Given the description of an element on the screen output the (x, y) to click on. 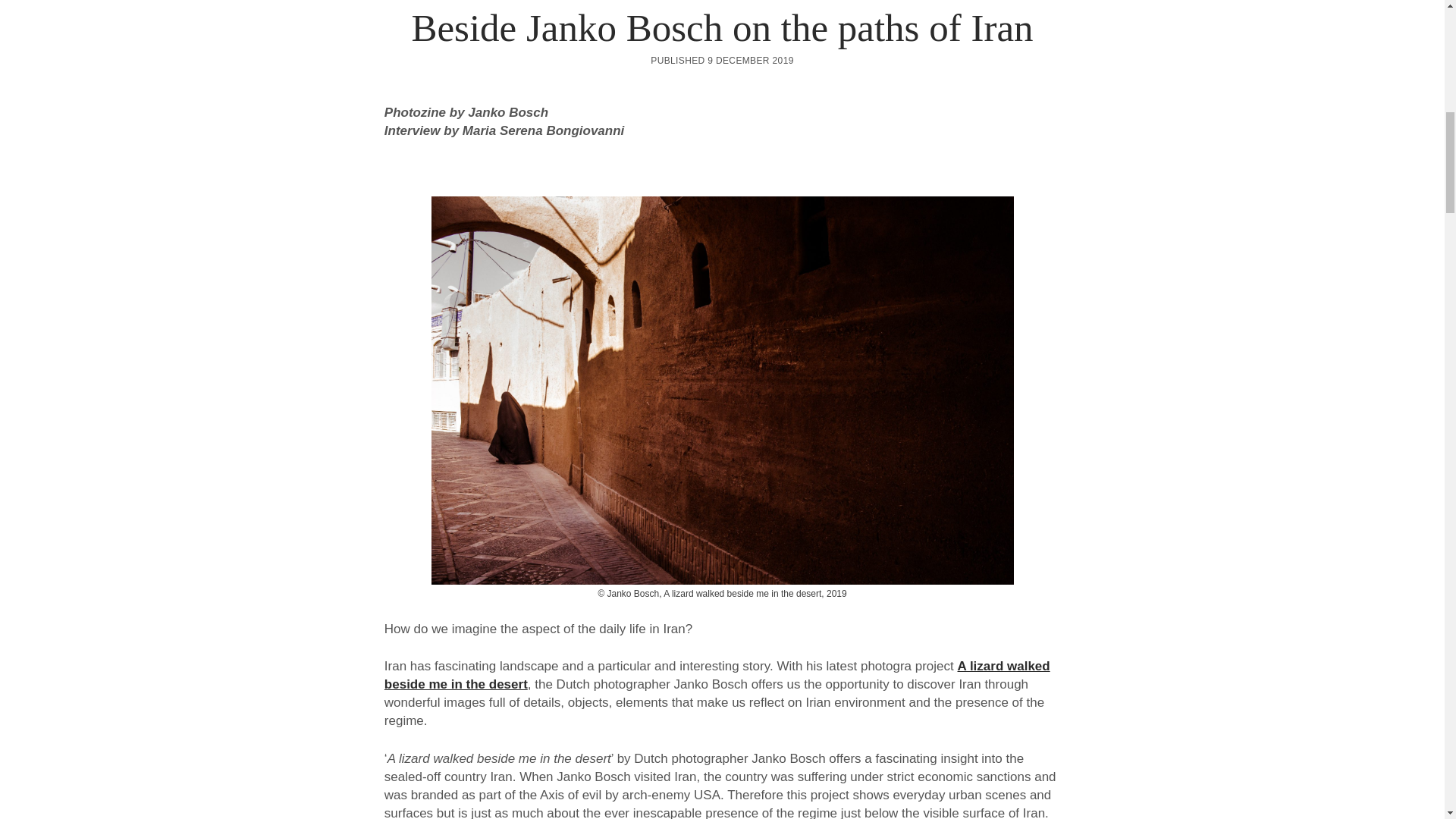
A lizard walked beside me in the desert (716, 675)
